Given the description of an element on the screen output the (x, y) to click on. 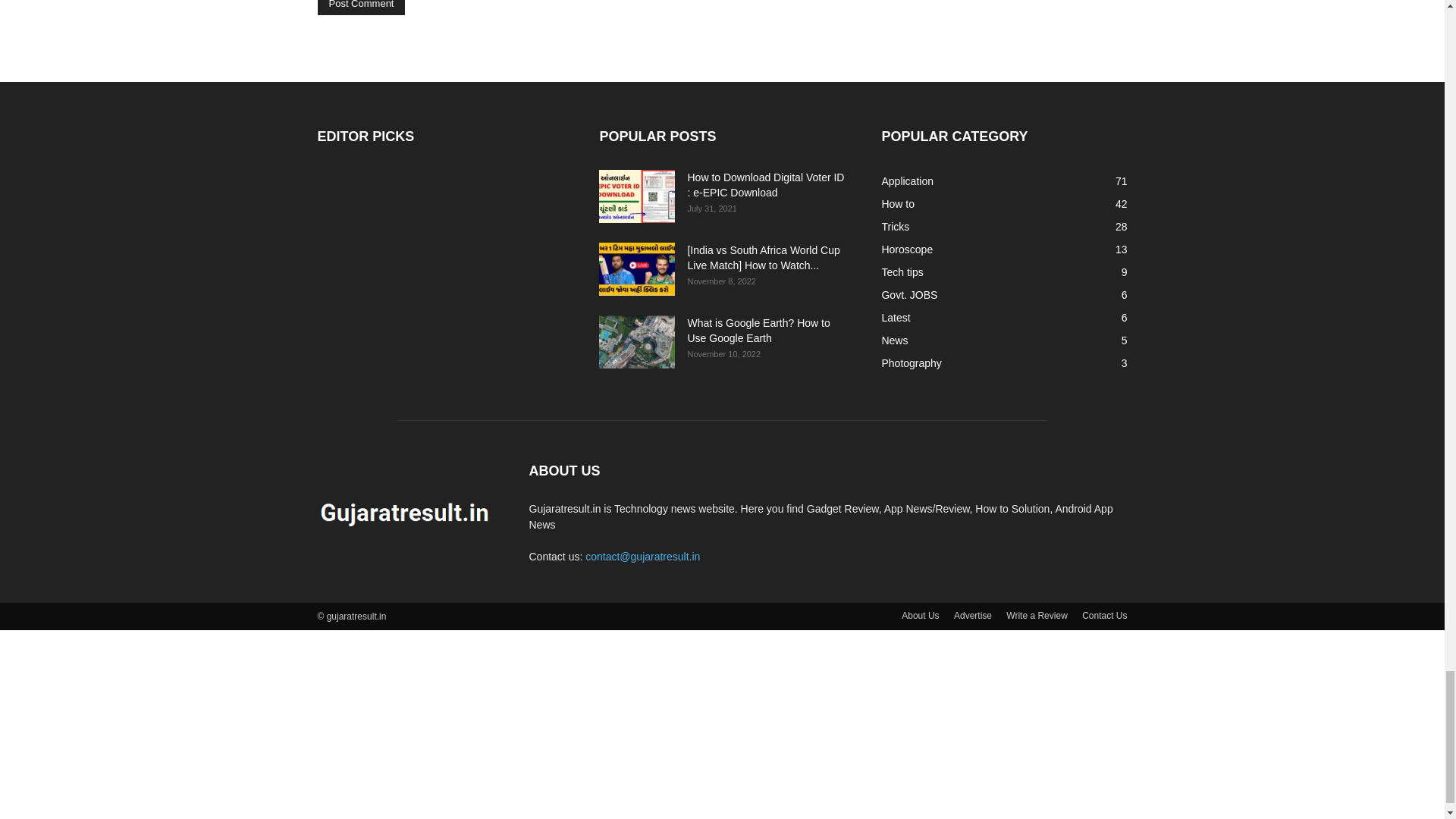
Post Comment (360, 7)
